Given the description of an element on the screen output the (x, y) to click on. 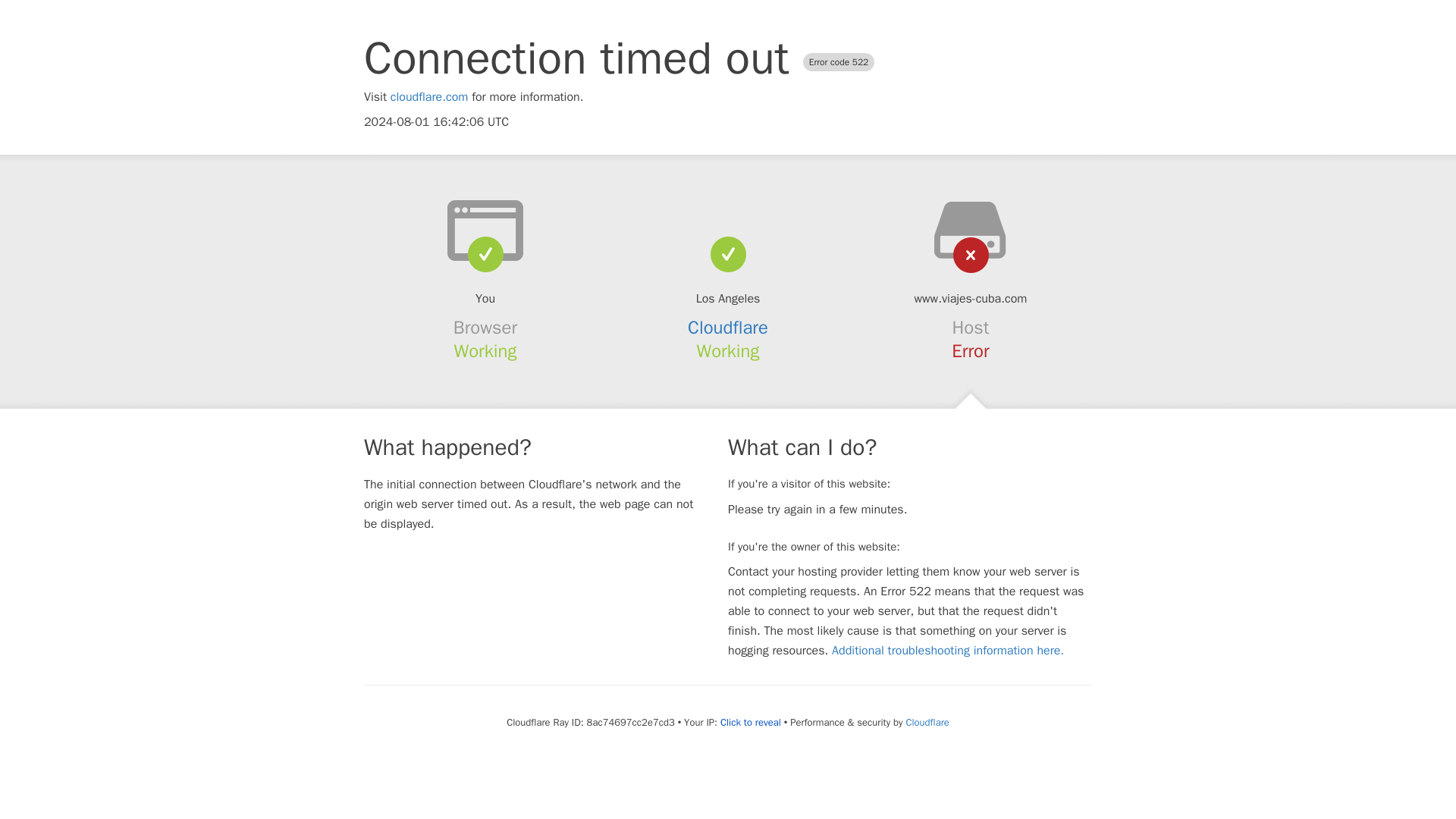
Cloudflare (727, 327)
Cloudflare (927, 721)
Additional troubleshooting information here. (947, 650)
cloudflare.com (429, 96)
Click to reveal (750, 722)
